Given the description of an element on the screen output the (x, y) to click on. 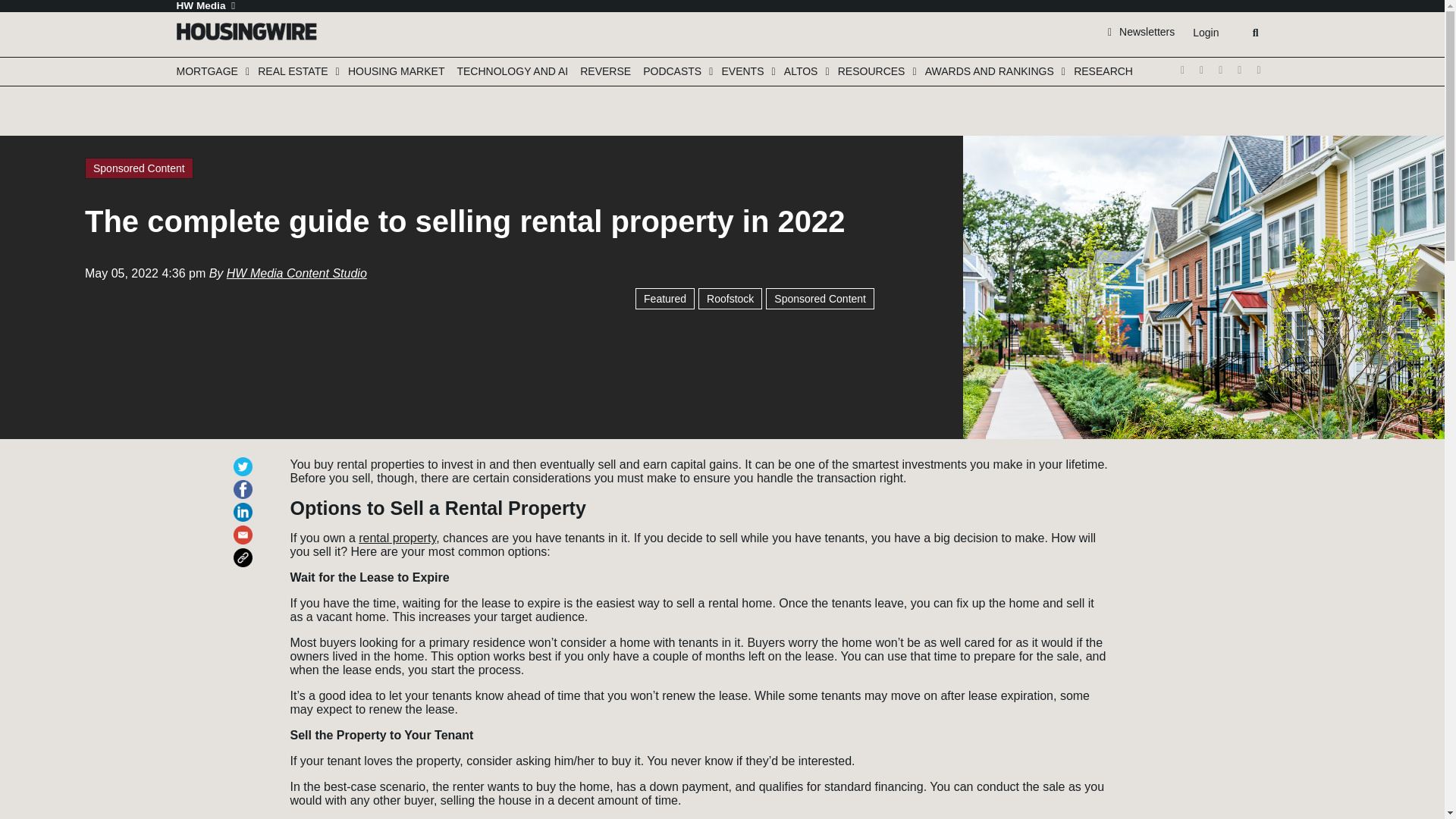
Click to share on Facebook (246, 482)
Login (1205, 32)
Click to share on LinkedIn (246, 504)
Click to email a link to a friend (246, 527)
Click to share on Twitter (246, 459)
Newsletters (1141, 31)
Click to copy link (246, 550)
Posts by HW Media Content Studio (296, 273)
